Given the description of an element on the screen output the (x, y) to click on. 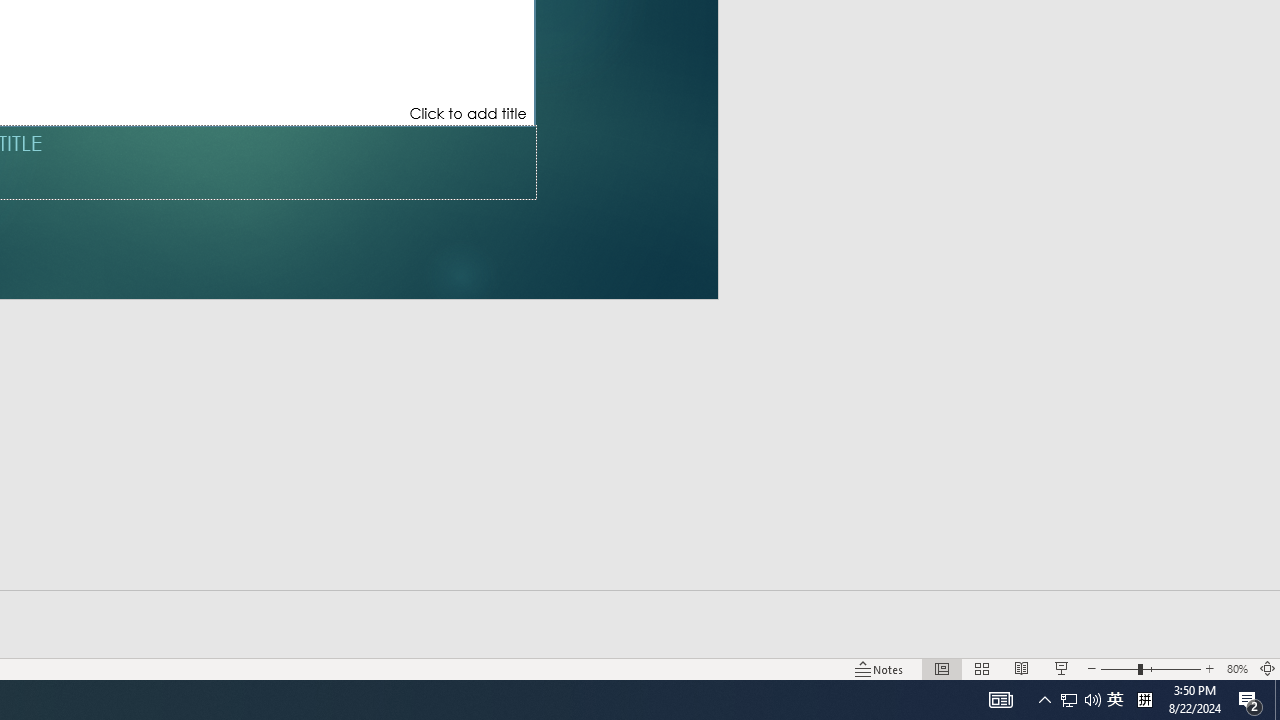
Zoom 80% (1236, 668)
